Given the description of an element on the screen output the (x, y) to click on. 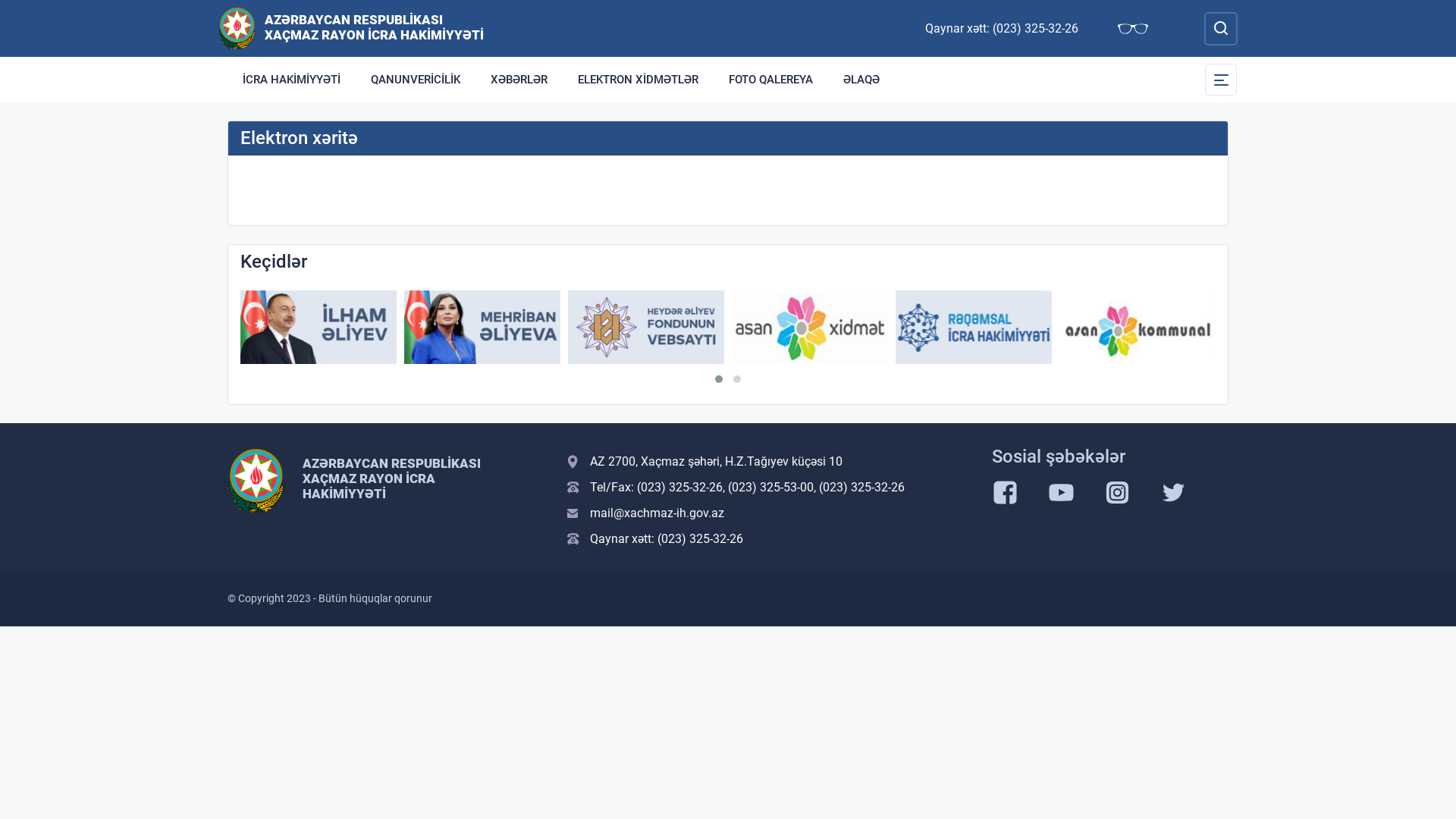
Asan komunal Element type: hover (1137, 327)
mail@xachmaz-ih.gov.az Element type: text (770, 513)
FOTO QALEREYA Element type: text (770, 79)
QANUNVERICILIK Element type: text (415, 79)
